Given the description of an element on the screen output the (x, y) to click on. 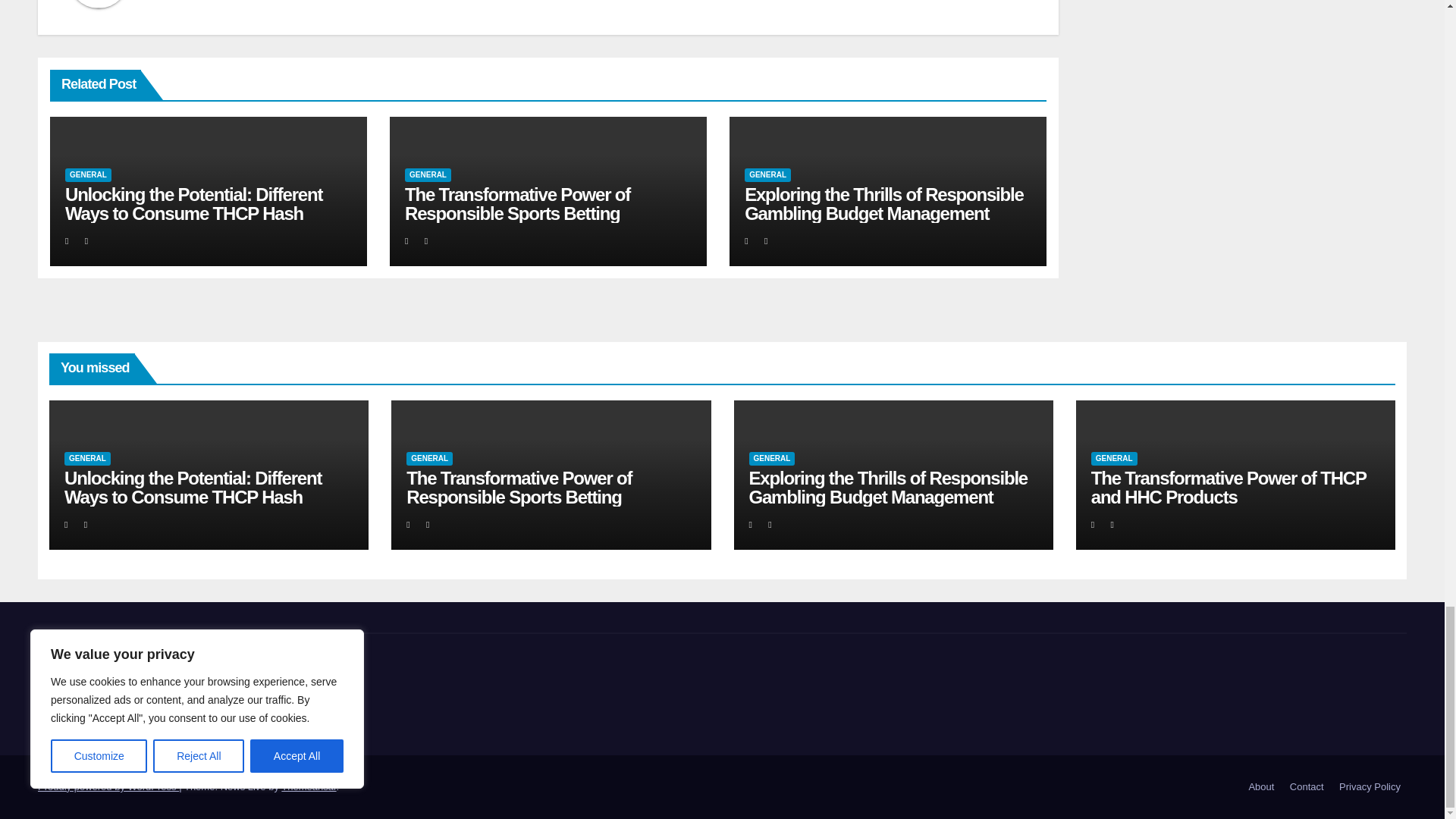
Contact (1307, 786)
About (1260, 786)
Privacy Policy (1369, 786)
